Given the description of an element on the screen output the (x, y) to click on. 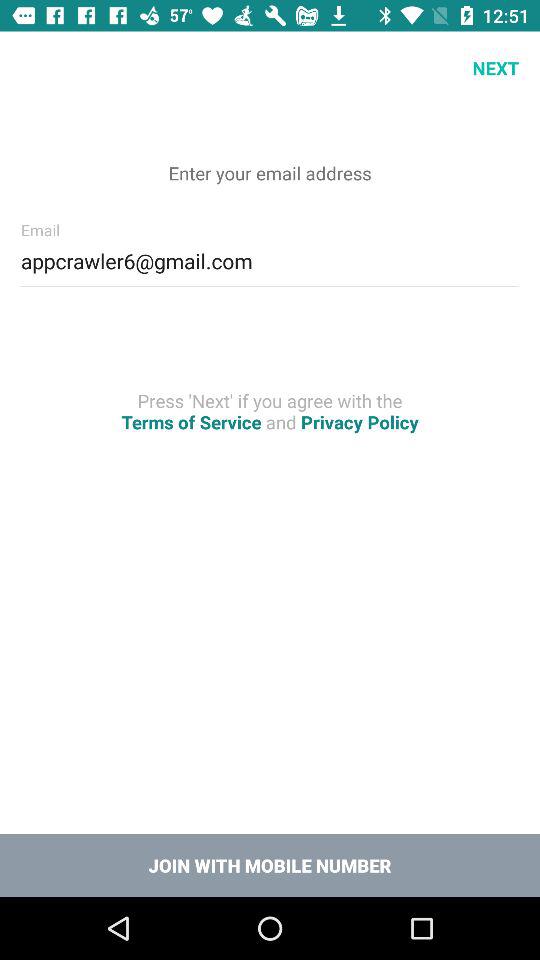
swipe until the join with mobile (270, 864)
